Given the description of an element on the screen output the (x, y) to click on. 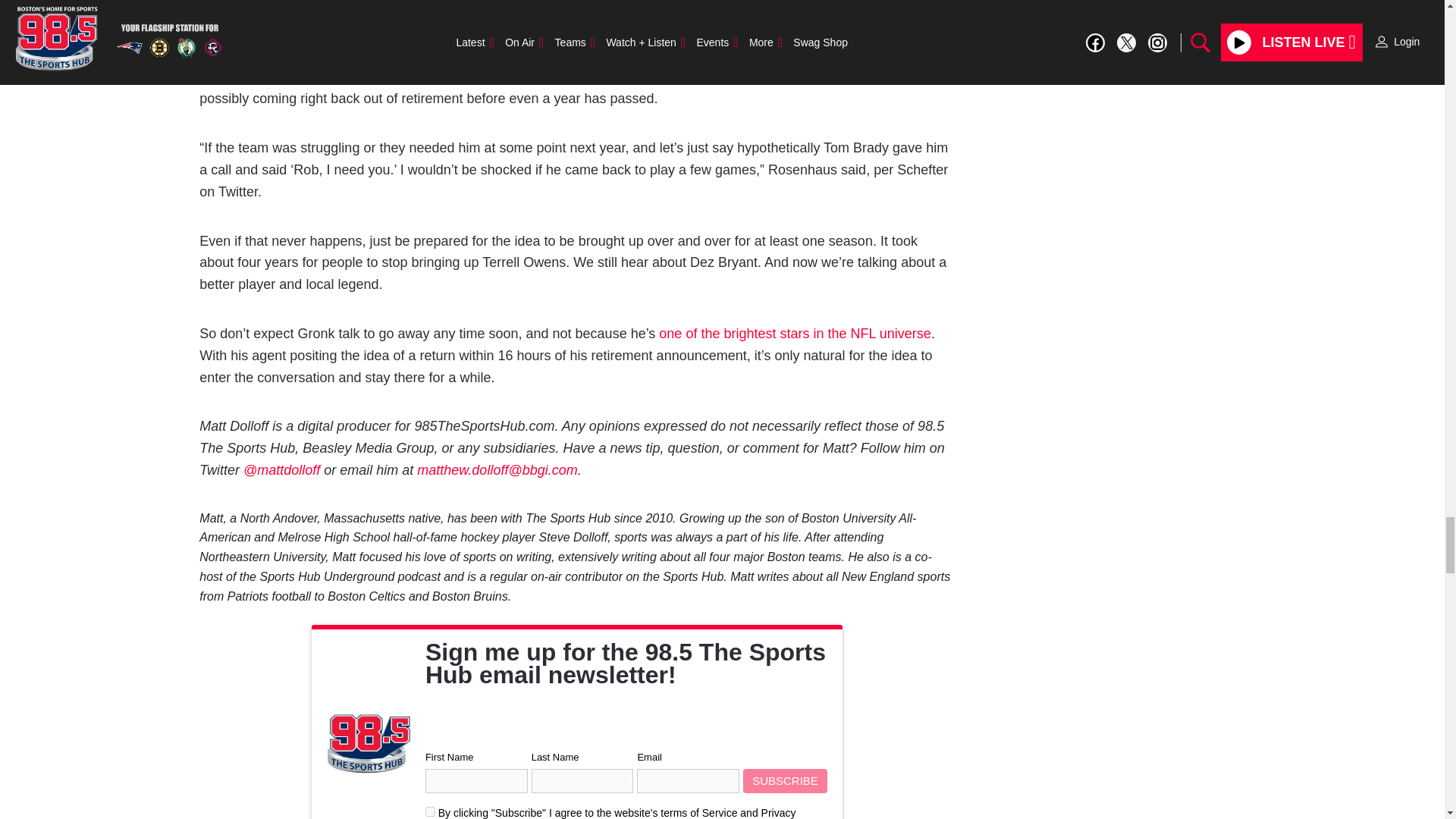
on (430, 811)
